Given the description of an element on the screen output the (x, y) to click on. 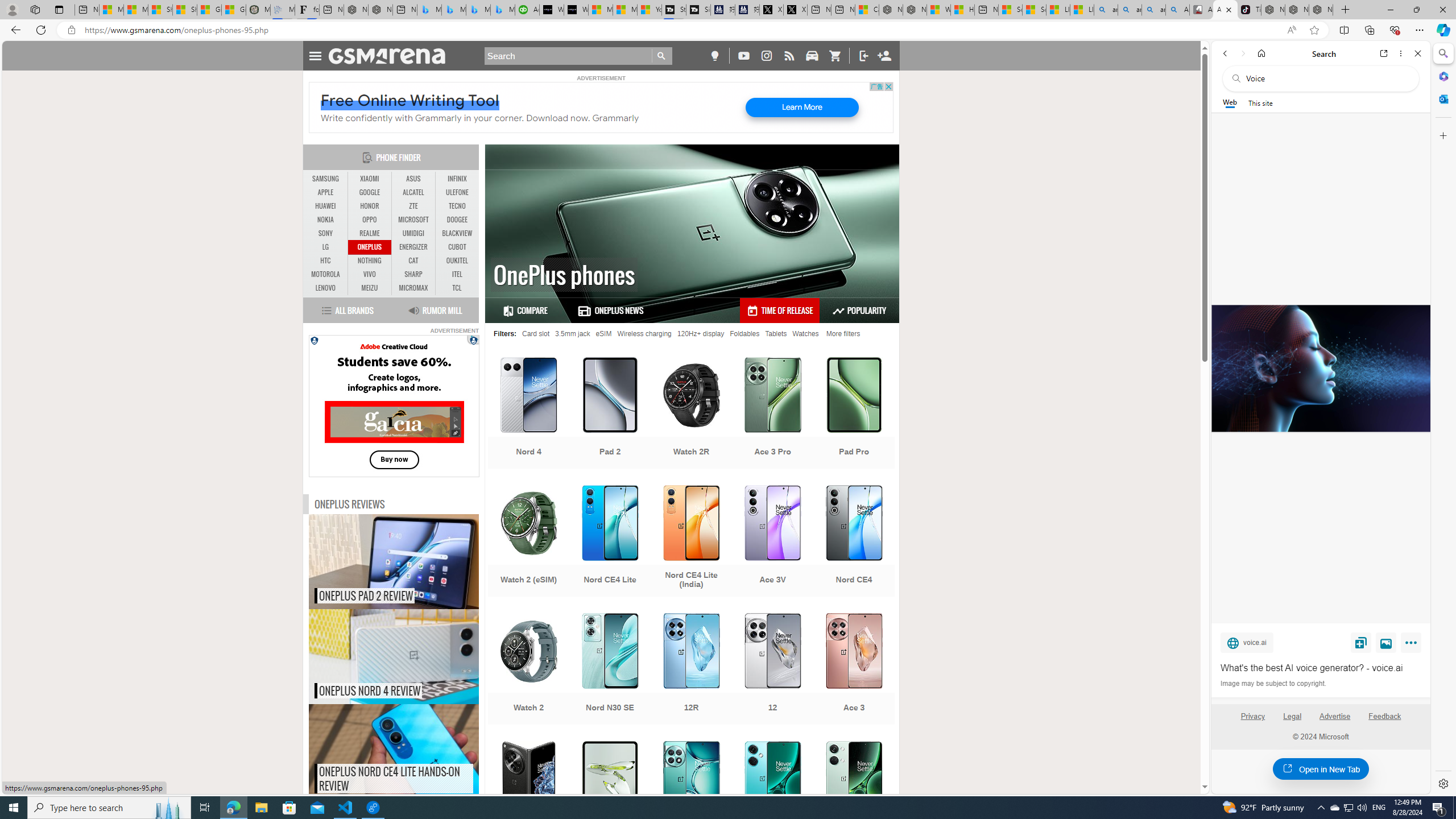
APPLE (325, 192)
Huge shark washes ashore at New York City beach | Watch (962, 9)
INFINIX (457, 178)
Learn More (802, 107)
Side bar (1443, 418)
Customize (1442, 135)
All OnePlus phones (1224, 9)
Nordace Siena Pro 15 Backpack (1296, 9)
Outlook (1442, 98)
Privacy (1252, 715)
HONOR (369, 205)
NOTHING (369, 260)
